Given the description of an element on the screen output the (x, y) to click on. 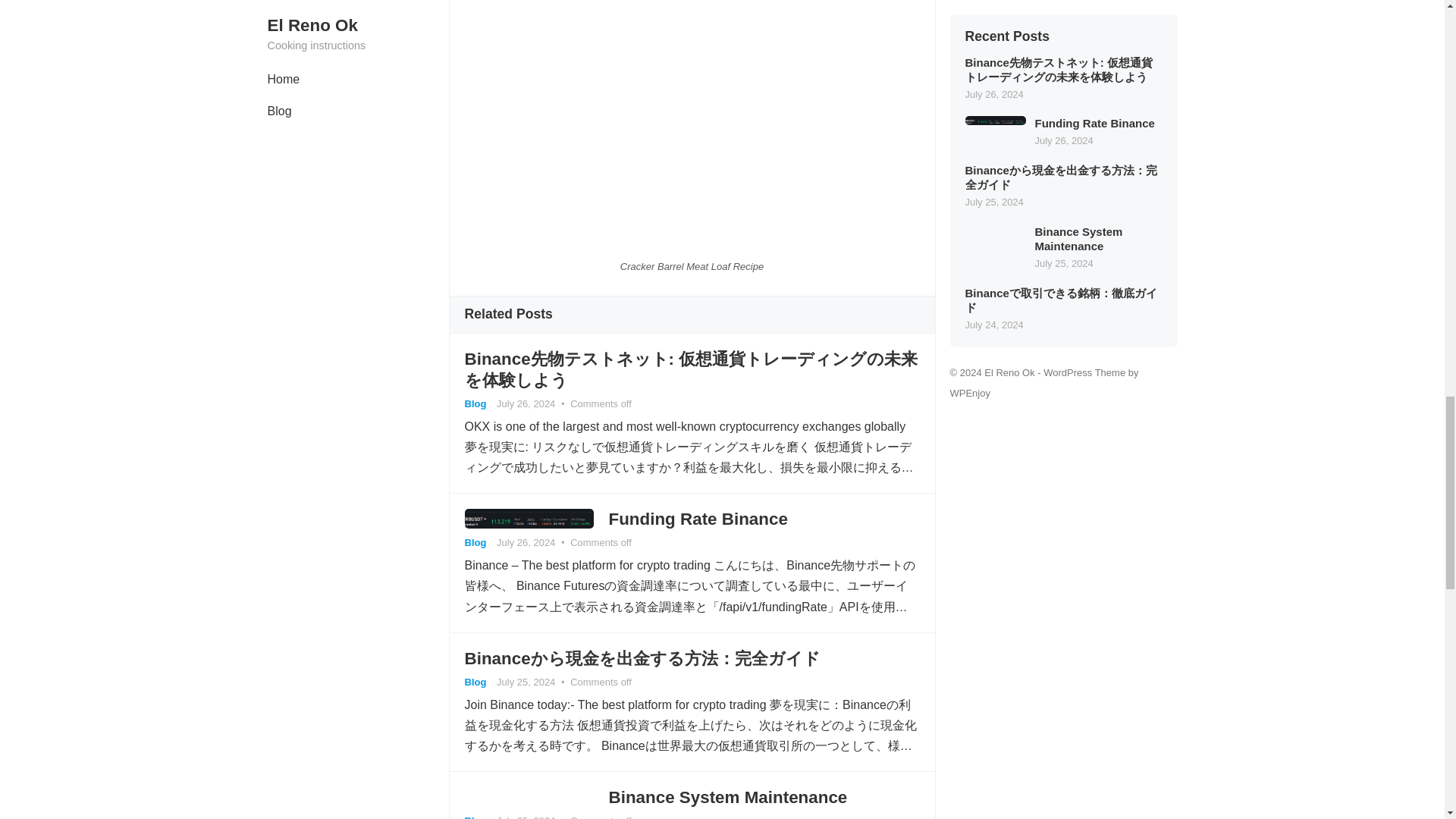
Blog (475, 403)
Blog (475, 542)
Binance System Maintenance (727, 796)
Blog (475, 816)
Funding Rate Binance (697, 518)
Cracker Barrel Meat Loaf Recipe (691, 124)
Blog (475, 681)
